Given the description of an element on the screen output the (x, y) to click on. 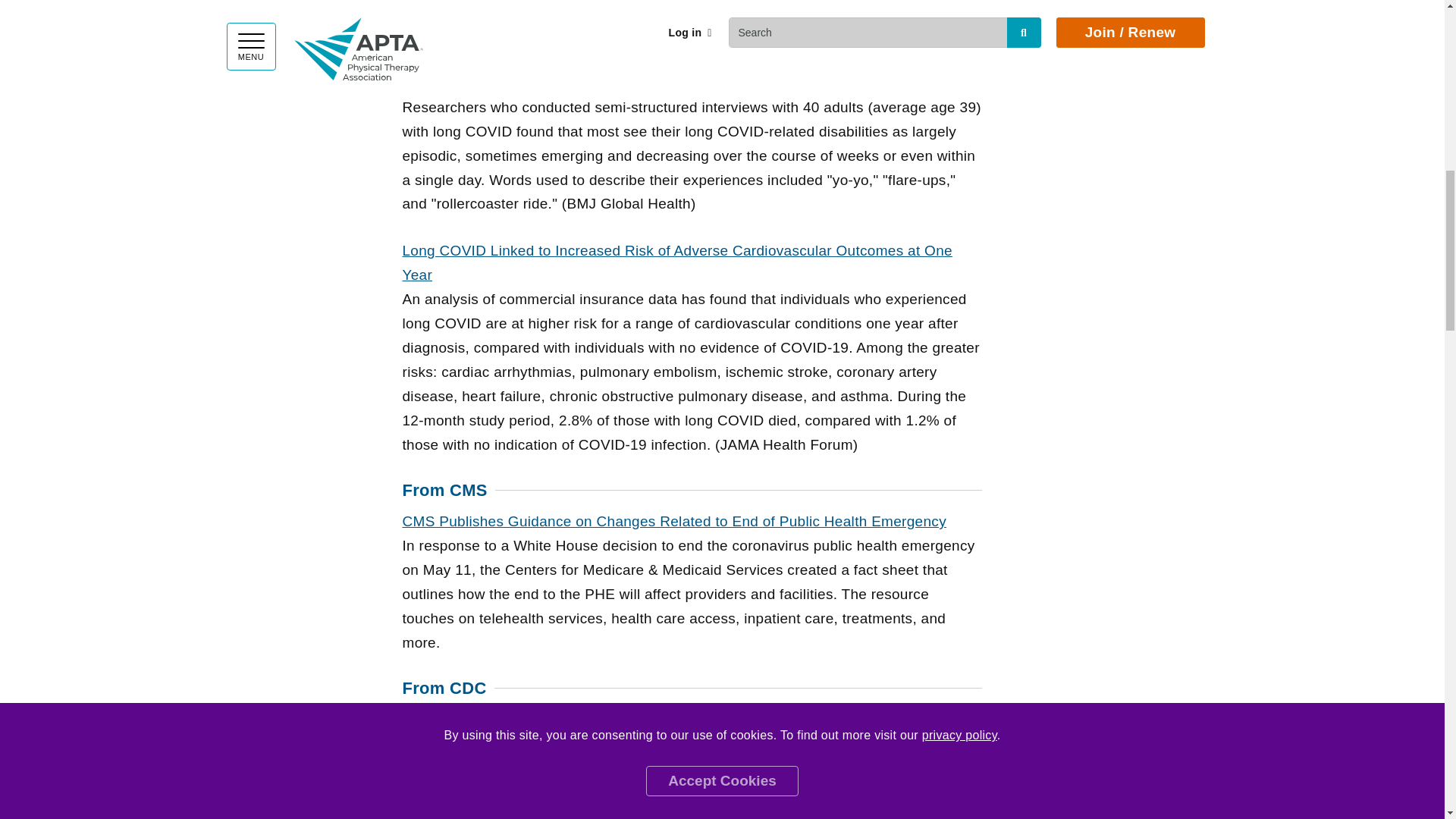
research abstract (676, 262)
research abstract (652, 82)
CMS fact sheet (672, 521)
CDC data tracker page (645, 719)
